Given the description of an element on the screen output the (x, y) to click on. 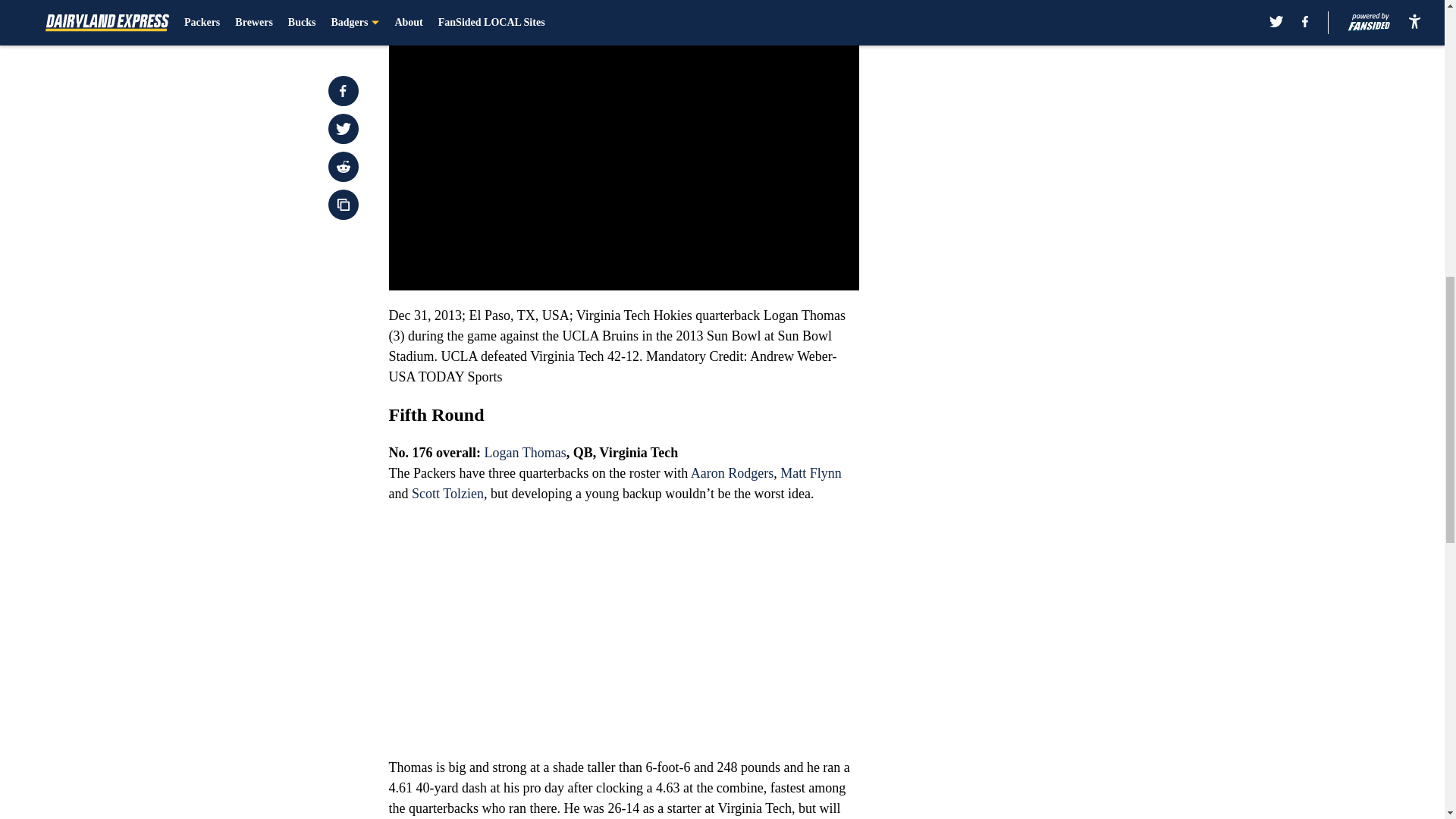
Prev (433, 5)
Matt Flynn (810, 473)
Scott Tolzien (447, 493)
Aaron Rodgers (731, 473)
Next (813, 5)
Logan Thomas (524, 452)
